Given the description of an element on the screen output the (x, y) to click on. 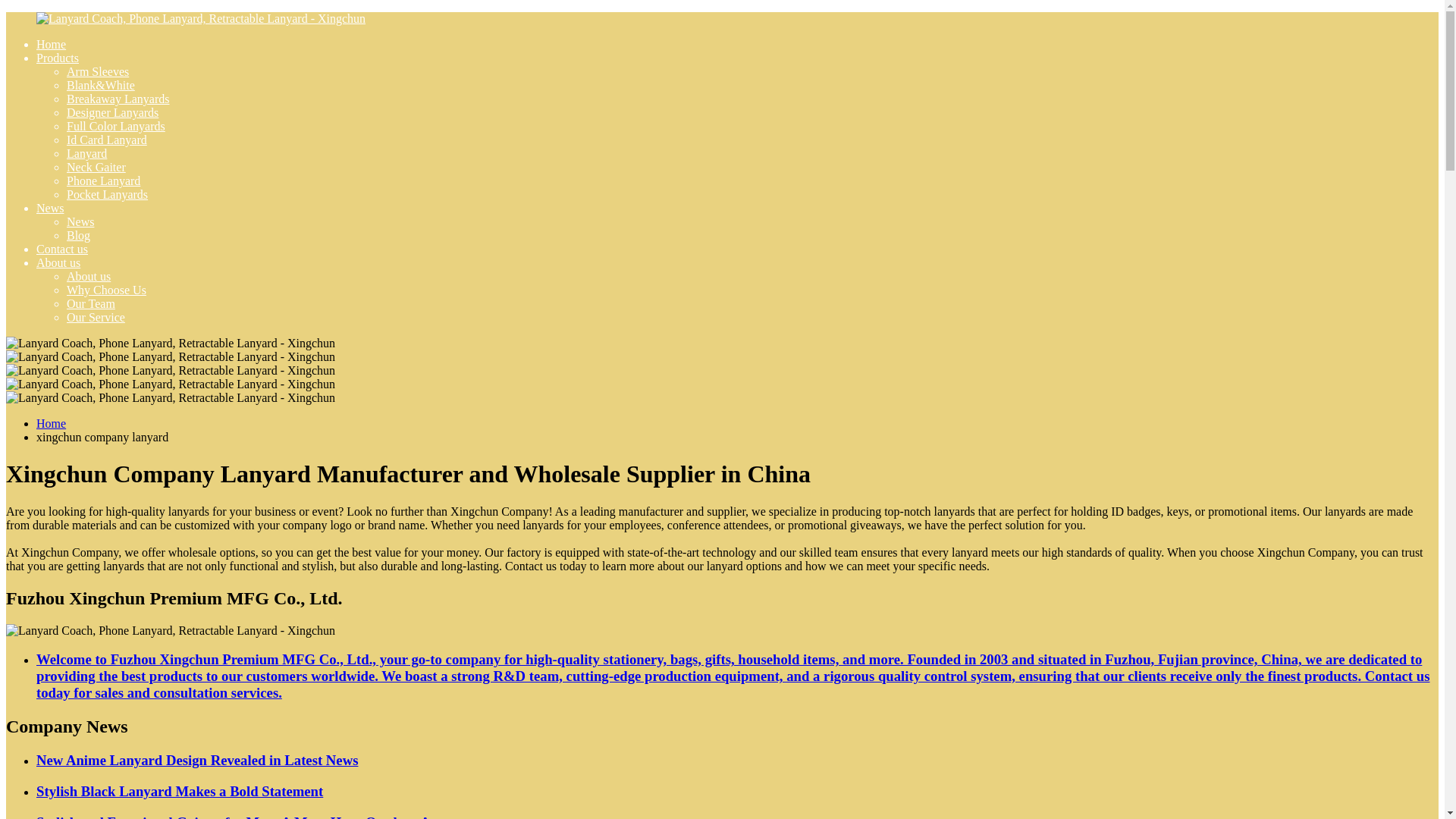
Home (50, 422)
Our Service (95, 317)
Neck Gaiter (95, 166)
About us (58, 262)
Arm Sleeves (97, 71)
Lanyard (86, 153)
Contact us (61, 248)
Designer Lanyards (112, 112)
Home (50, 43)
Our Team (90, 303)
